Given the description of an element on the screen output the (x, y) to click on. 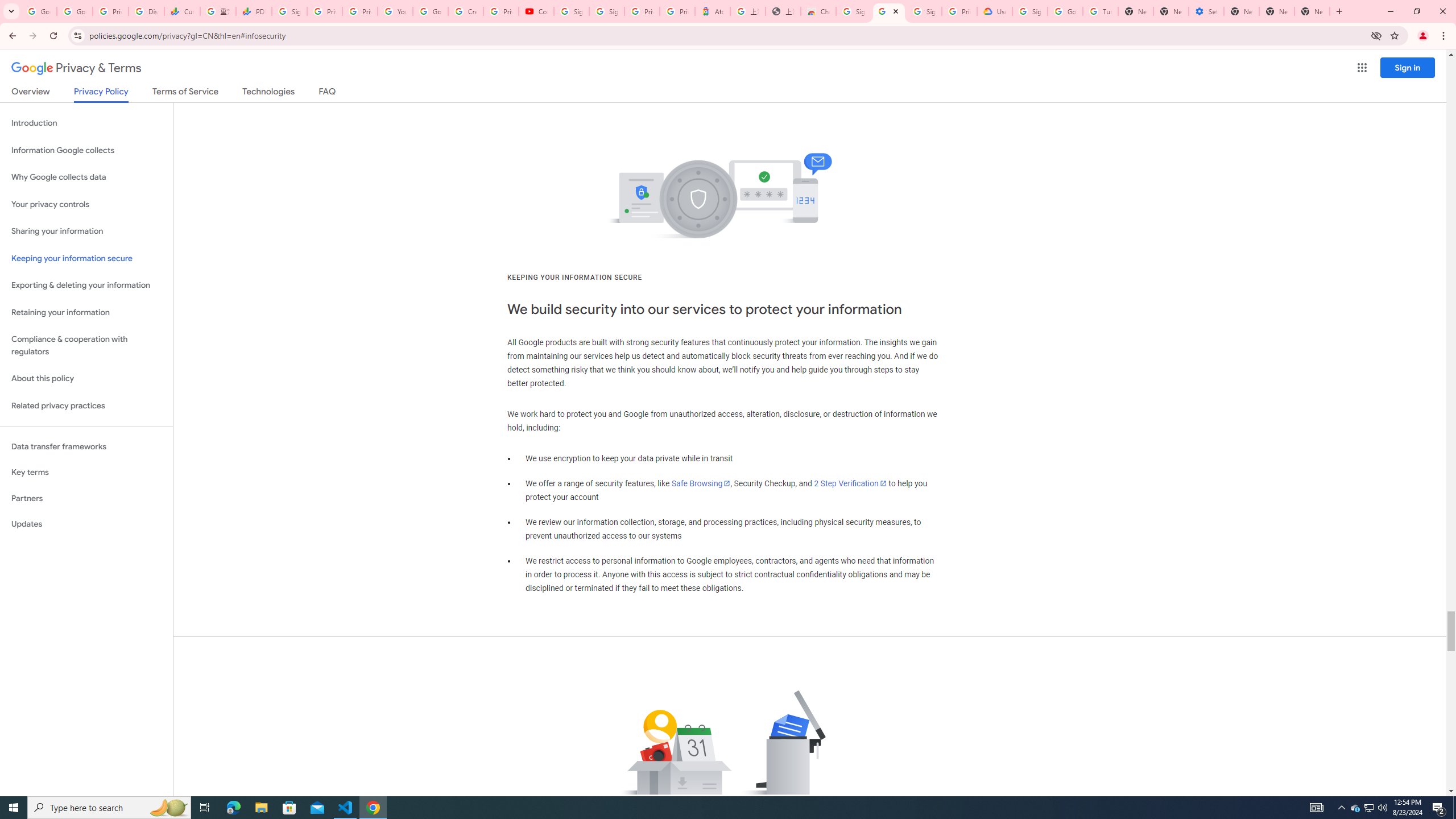
Sign in - Google Accounts (853, 11)
Why Google collects data (86, 176)
Exporting & deleting your information (86, 284)
YouTube (394, 11)
Content Creator Programs & Opportunities - YouTube Creators (536, 11)
